Given the description of an element on the screen output the (x, y) to click on. 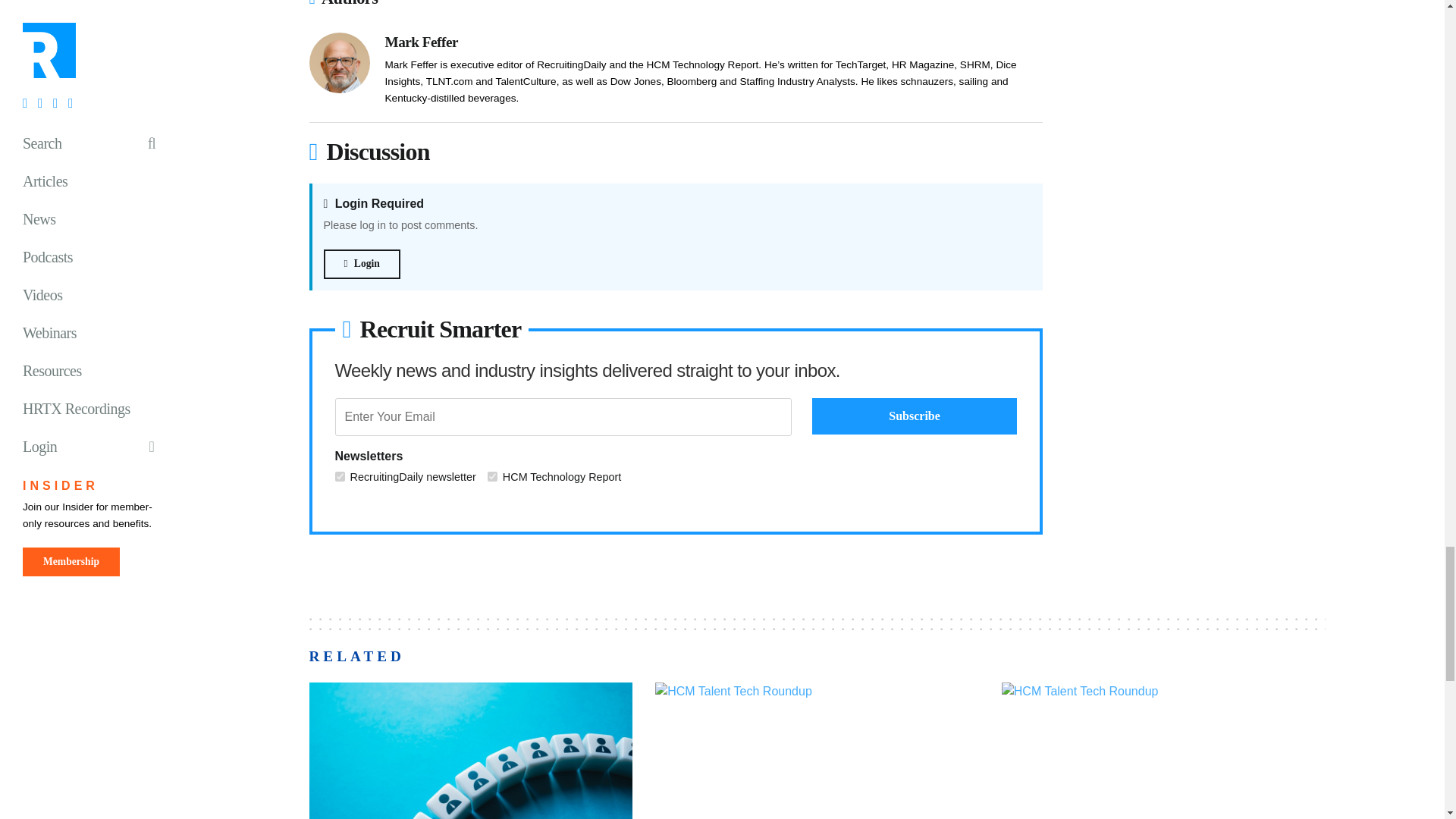
Subscribe (914, 416)
RecruitingDaily newsletter (339, 476)
HCM Technology Report (492, 476)
